Given the description of an element on the screen output the (x, y) to click on. 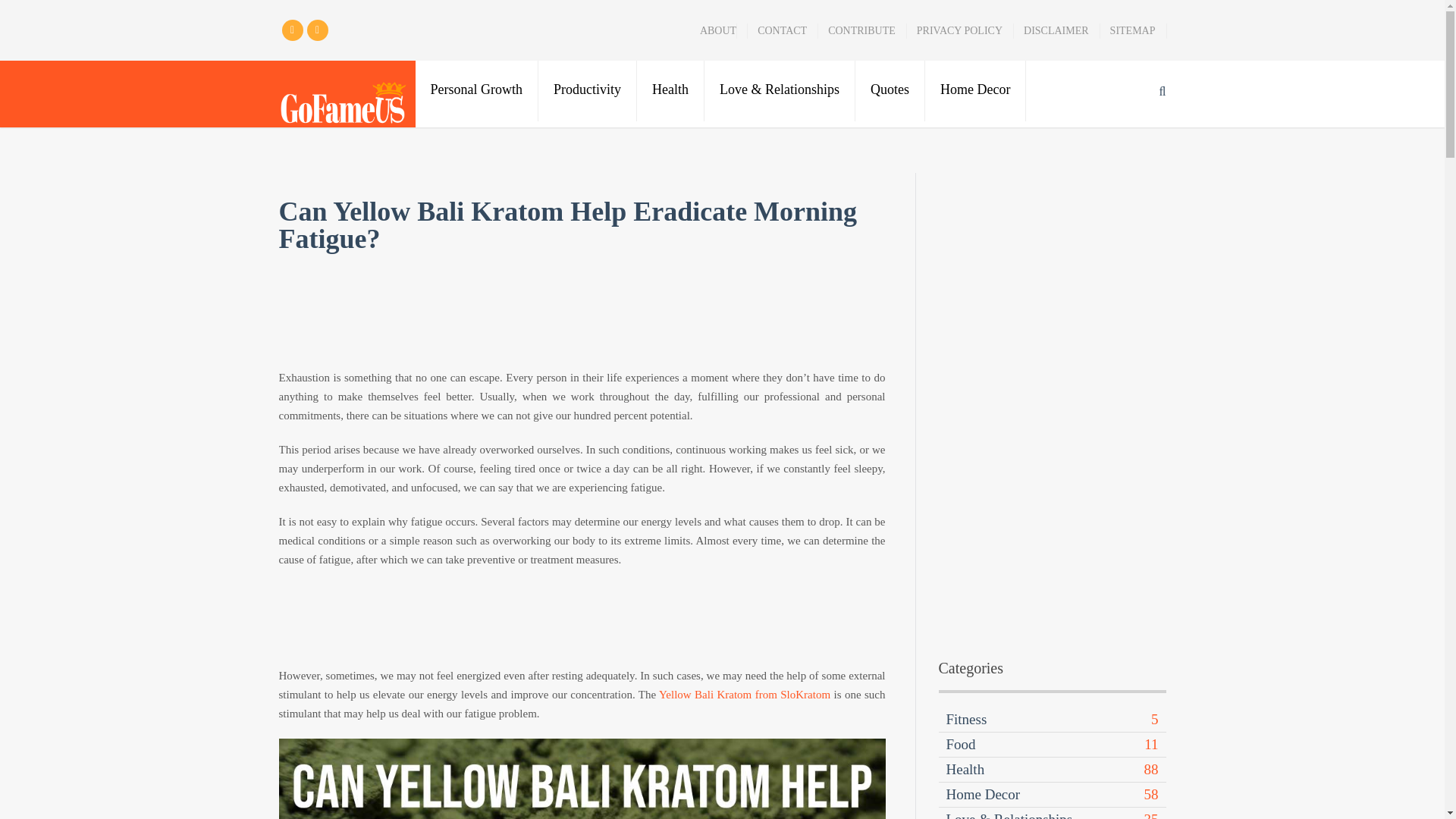
DISCLAIMER (1056, 29)
Food (960, 744)
Home Decor (975, 90)
Health (670, 90)
CONTACT (781, 29)
Personal Growth (476, 90)
CONTRIBUTE (860, 29)
Advertisement (582, 618)
Productivity (587, 90)
Health (965, 769)
Fitness (966, 719)
PRIVACY POLICY (959, 29)
Yellow Bali Kratom from SloKratom (744, 694)
Advertisement (582, 320)
Can Yellow Bali Kratom Help Eradicate Morning Fatigue (582, 778)
